Given the description of an element on the screen output the (x, y) to click on. 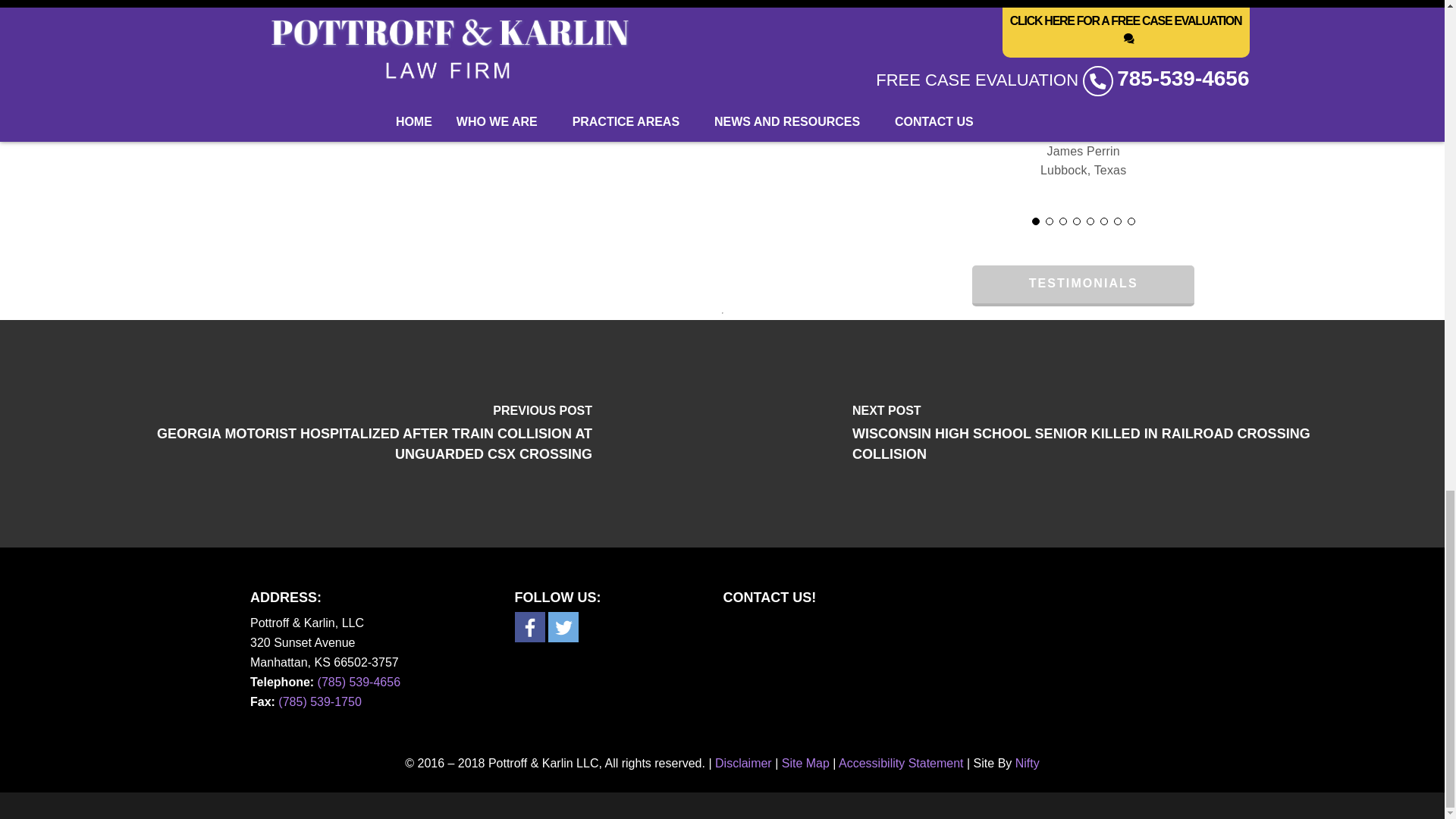
Contact form (949, 676)
